Given the description of an element on the screen output the (x, y) to click on. 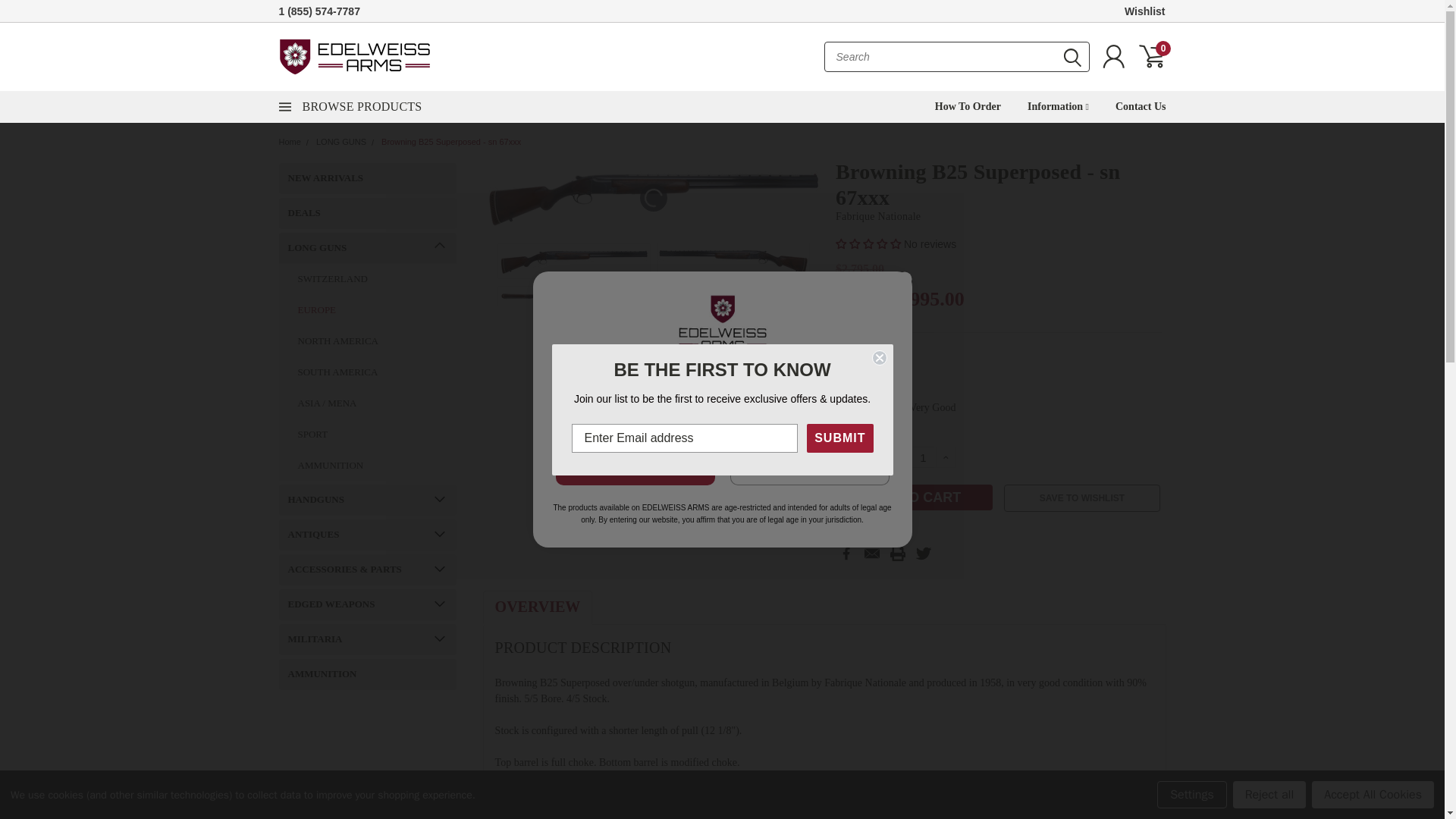
Browning B25 Superposed - sn 67xxx (653, 196)
Browning B25 Superposed - sn 67xxx (733, 296)
Edelweiss Arms (354, 56)
1 (923, 456)
0 (1151, 56)
Browning B25 Superposed - sn 67xxx (733, 261)
Facebook (845, 553)
Browning B25 Superposed - sn 67xxx (573, 261)
Add to Cart (913, 497)
Browning B25 Superposed - sn 67xxx (573, 295)
Email (871, 553)
Wishlist (1145, 10)
